Given the description of an element on the screen output the (x, y) to click on. 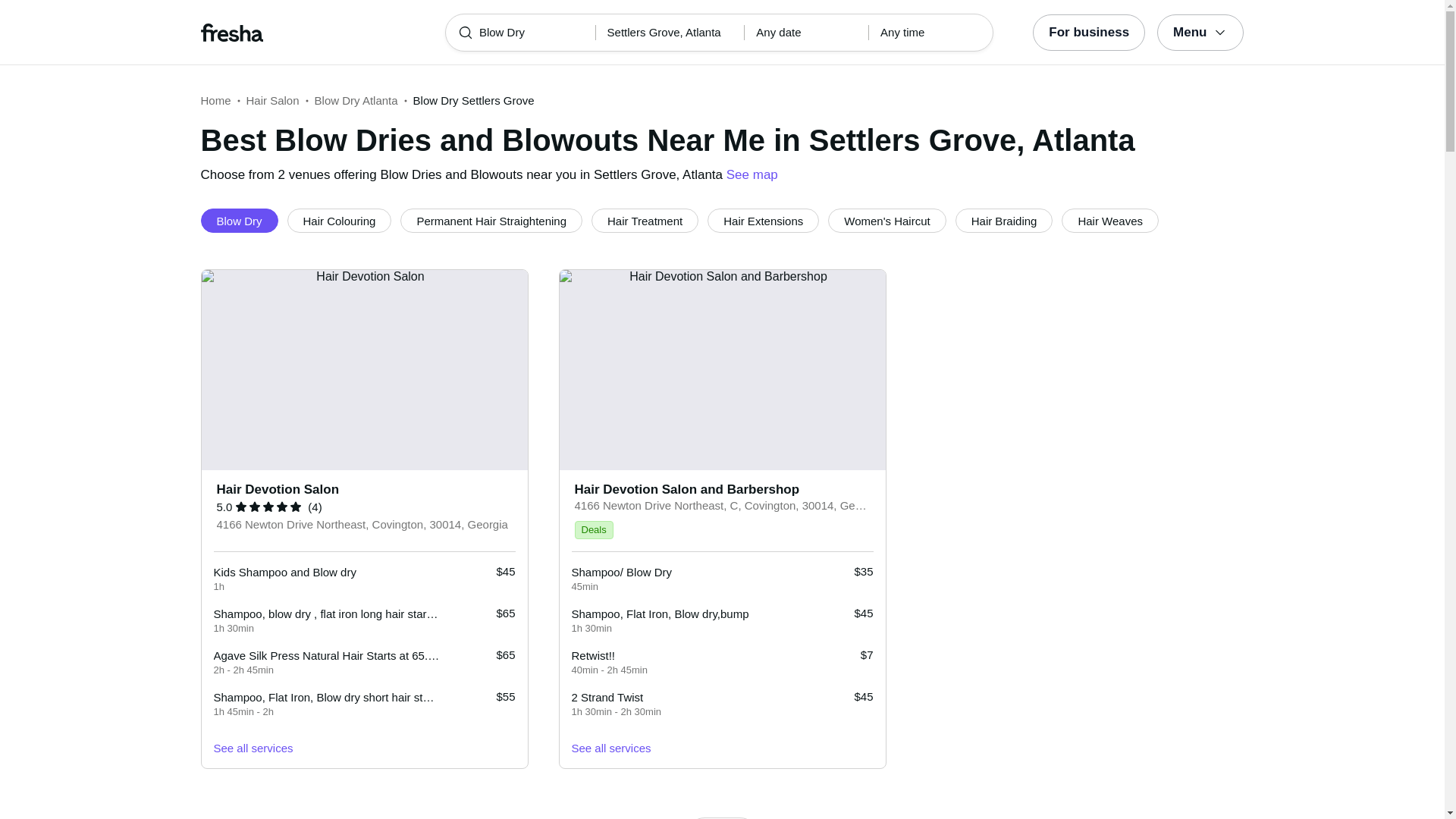
Home (215, 100)
Permanent Hair Straightening (491, 220)
See map (751, 174)
Hair Weaves (1109, 220)
For business (1088, 31)
Hair Colouring (338, 220)
Blow Dry Atlanta (355, 100)
Home (215, 100)
Blow Dry Atlanta (355, 100)
Permanent Hair Straightening (491, 220)
